Given the description of an element on the screen output the (x, y) to click on. 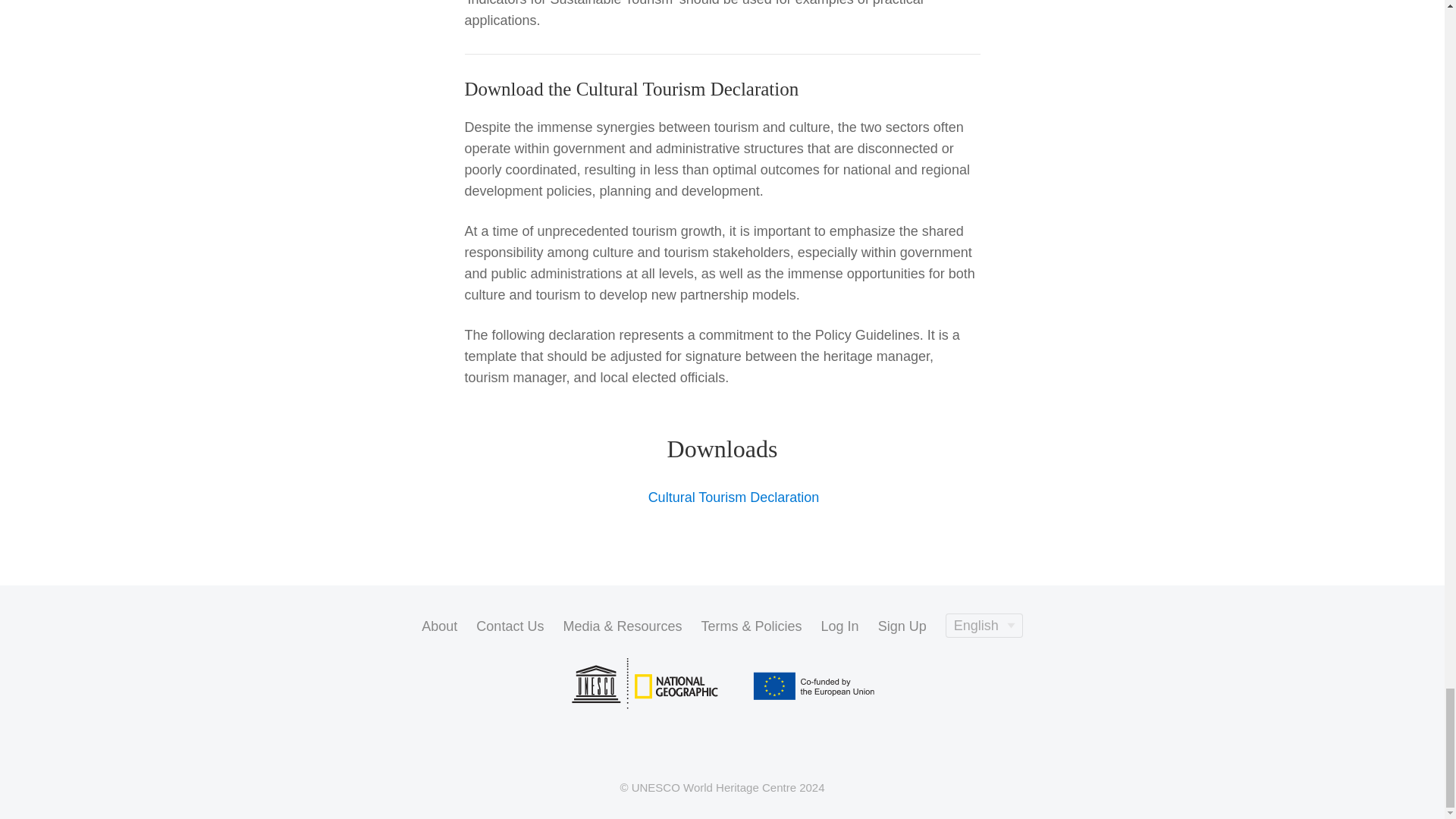
Log In (840, 626)
Sign Up (901, 626)
Cultural Tourism Declaration (721, 496)
Instagram (682, 749)
Twitter (761, 749)
About (439, 626)
Cultural Tourism Declaration (721, 496)
YouTube (801, 749)
Pinterest (722, 749)
Facebook (642, 749)
